Given the description of an element on the screen output the (x, y) to click on. 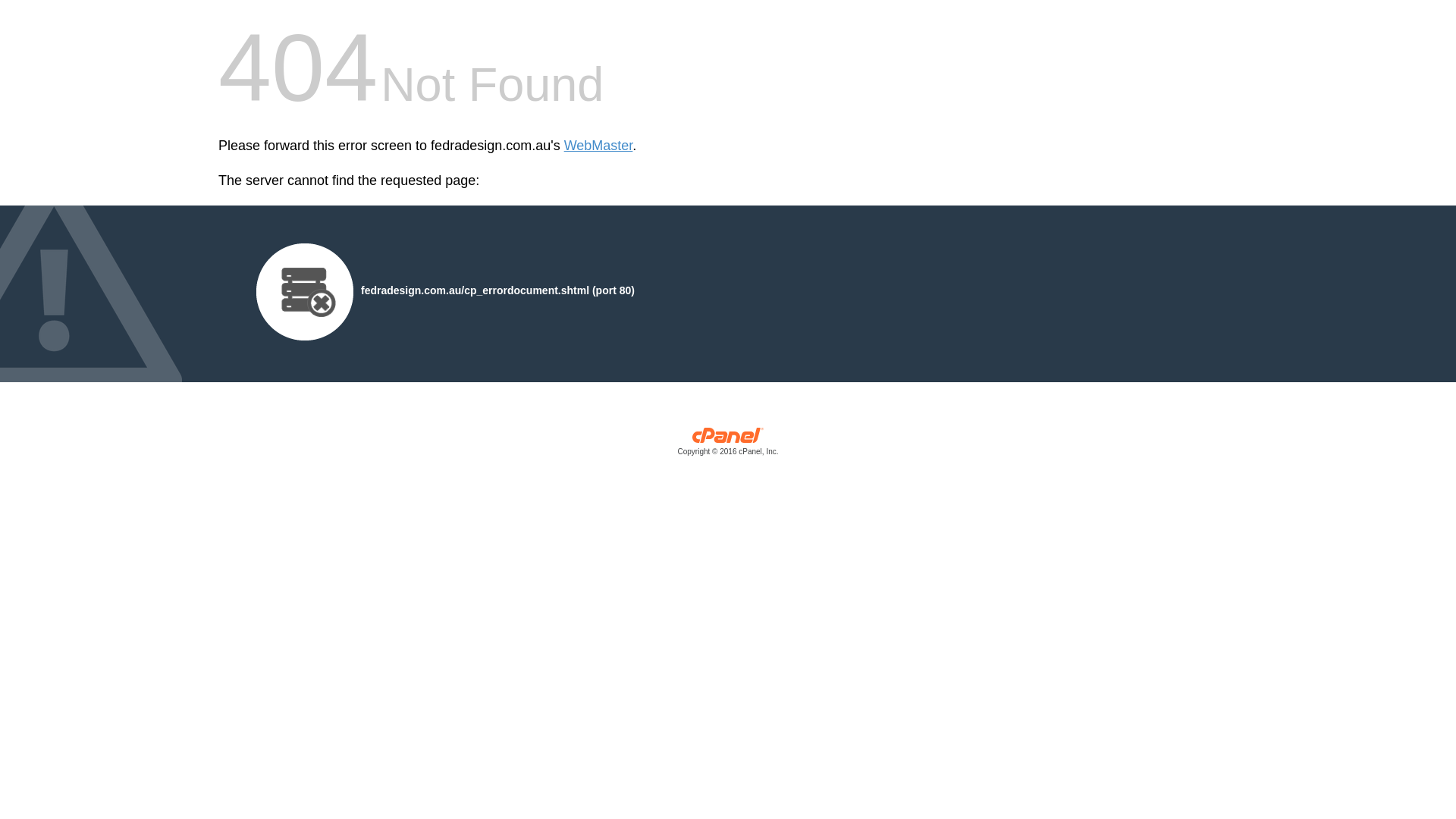
WebMaster Element type: text (598, 145)
